Given the description of an element on the screen output the (x, y) to click on. 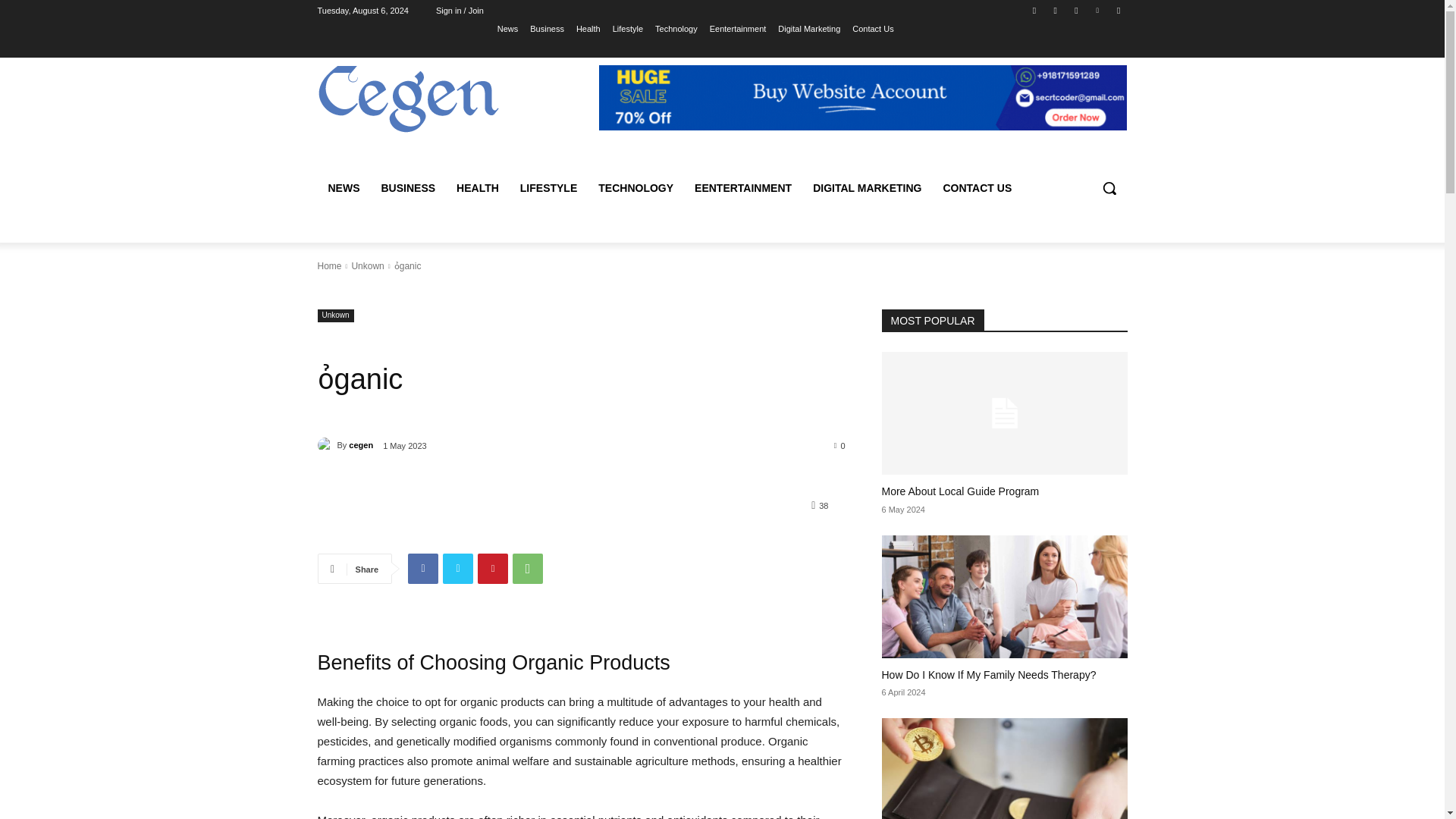
HEALTH (477, 187)
DIGITAL MARKETING (866, 187)
Lifestyle (627, 28)
TECHNOLOGY (636, 187)
Instagram (1055, 9)
Eentertainment (738, 28)
News (507, 28)
Digital Marketing (808, 28)
Youtube (1117, 9)
Twitter (457, 568)
